Given the description of an element on the screen output the (x, y) to click on. 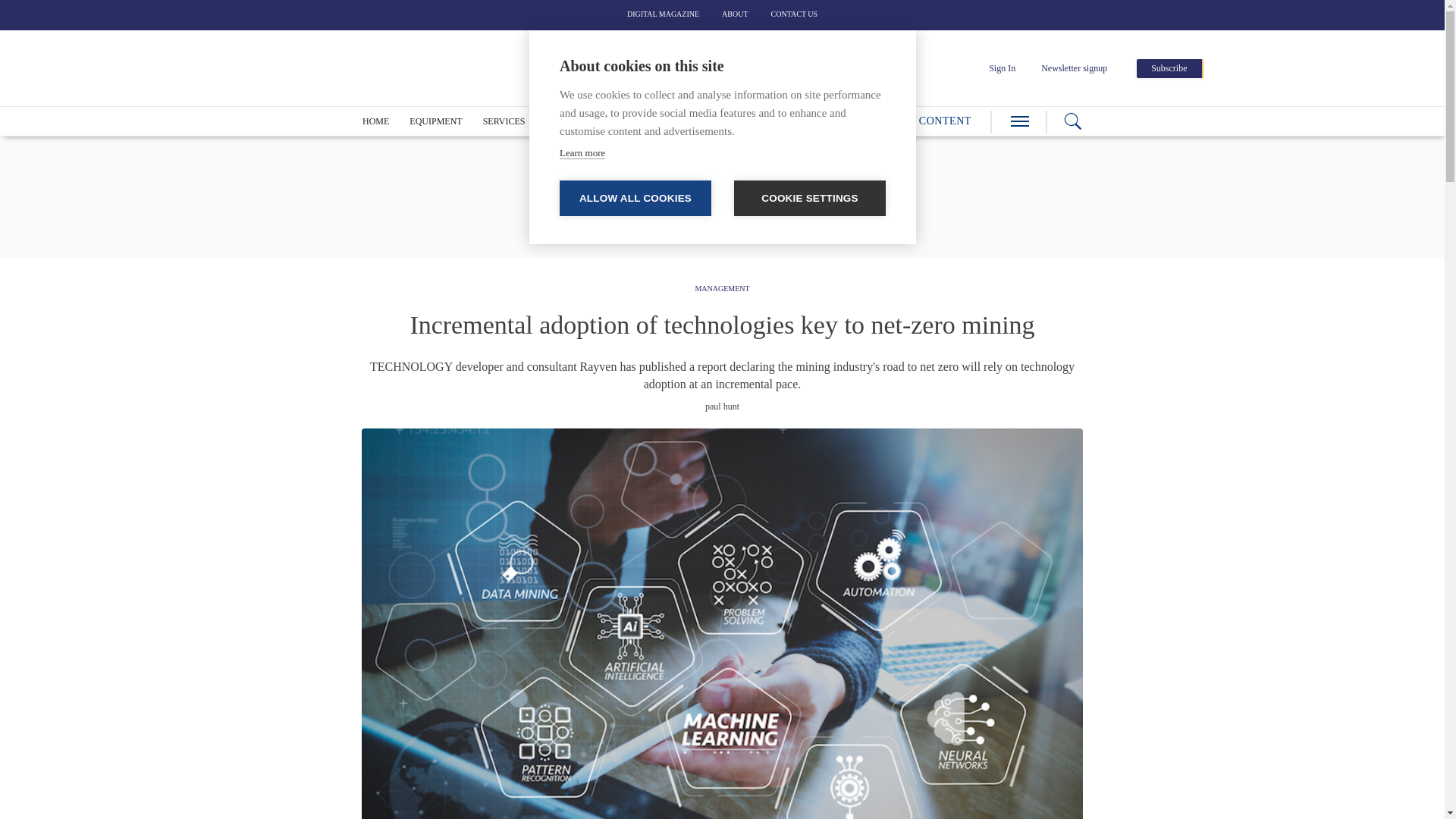
Learn more (582, 152)
TECHNOLOGY (575, 121)
Sign In (1001, 68)
Subscribe (1169, 67)
Esg (636, 121)
Newsletter signup (1073, 68)
Home (375, 121)
CONTACT US (794, 13)
Services (504, 121)
DIGITAL MAGAZINE (662, 13)
ESG (636, 121)
Equipment (435, 121)
Opinion (684, 121)
HOME (375, 121)
OPINION (684, 121)
